Given the description of an element on the screen output the (x, y) to click on. 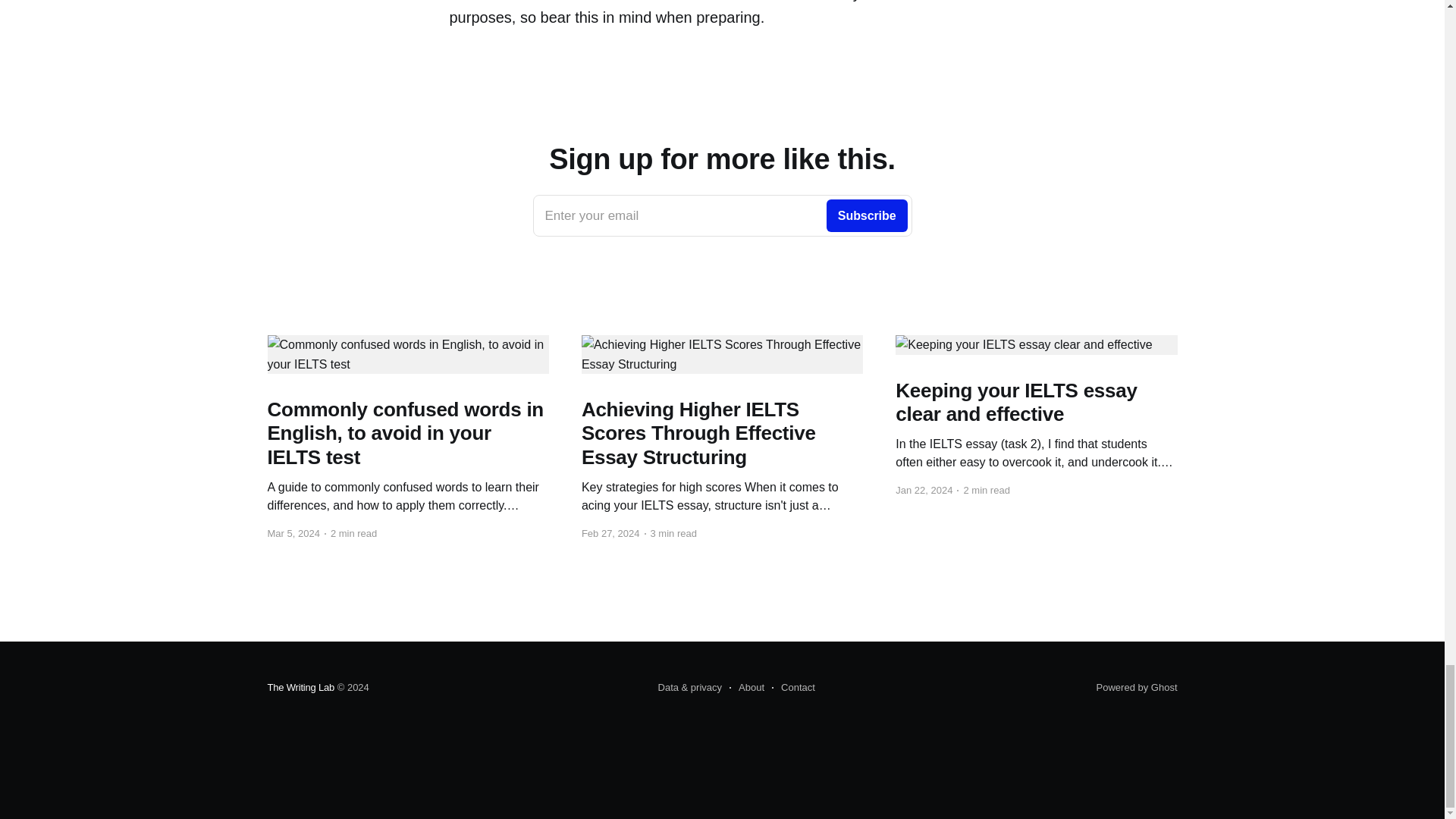
About (746, 687)
The Writing Lab (300, 686)
Contact (793, 687)
Powered by Ghost (1136, 686)
